Given the description of an element on the screen output the (x, y) to click on. 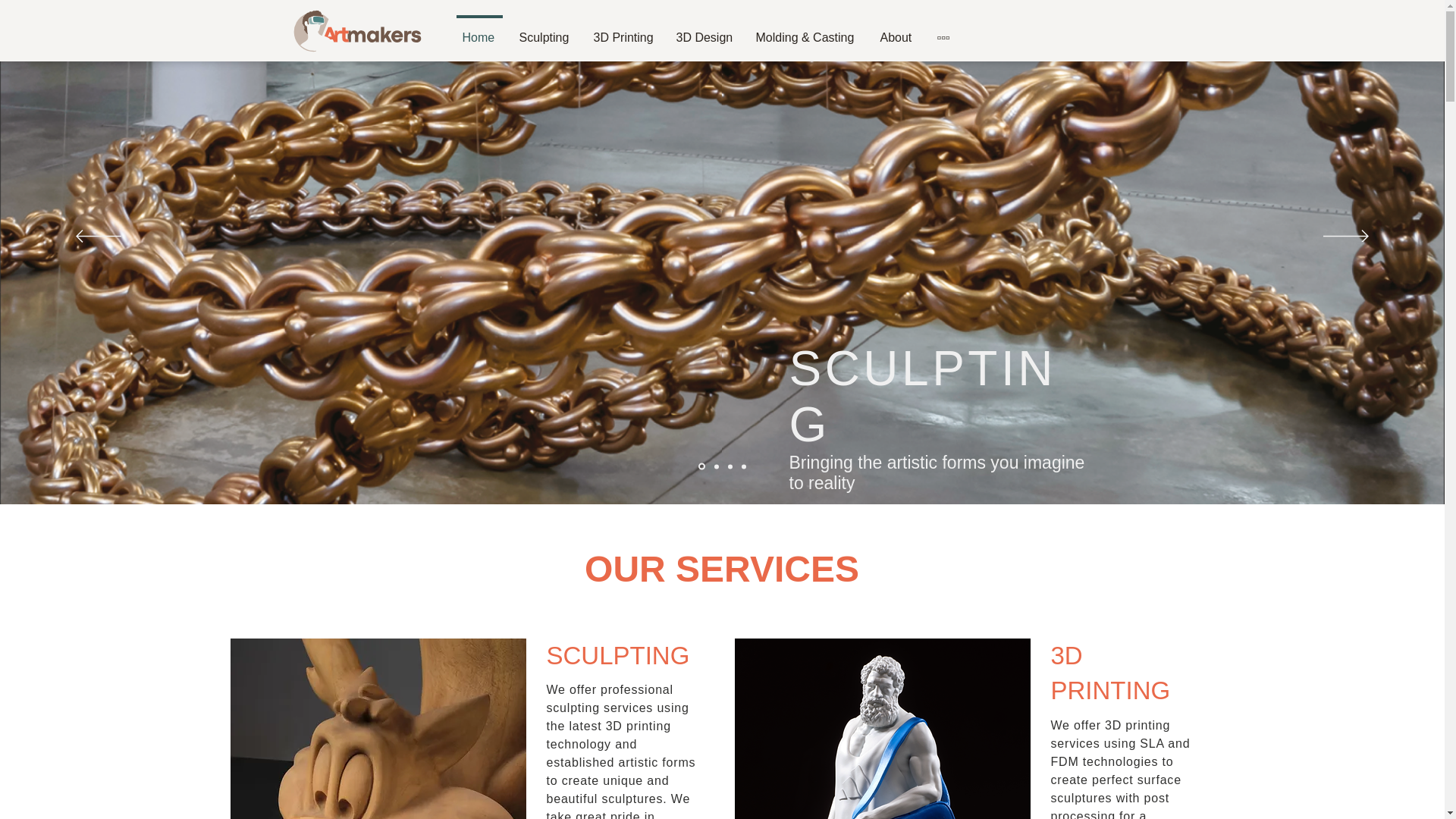
Home (477, 30)
3D printing (881, 728)
Sculpting (545, 30)
3D Design (703, 30)
3D Printing (623, 30)
About (897, 30)
